Given the description of an element on the screen output the (x, y) to click on. 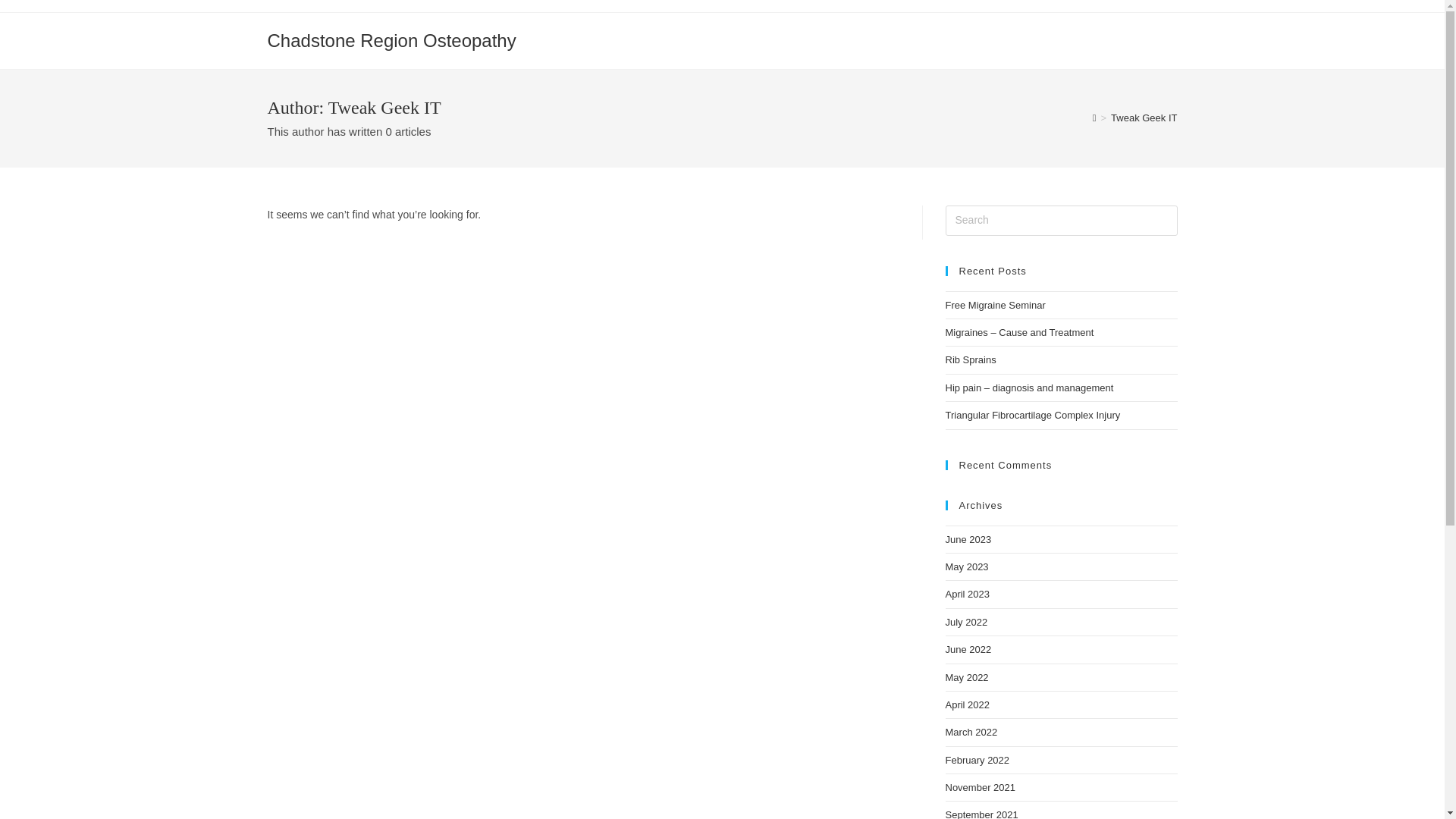
November 2021 Element type: text (979, 787)
July 2022 Element type: text (965, 621)
May 2022 Element type: text (966, 677)
February 2022 Element type: text (976, 759)
April 2023 Element type: text (966, 593)
April 2022 Element type: text (966, 704)
Chadstone Region Osteopathy Element type: text (390, 40)
Rib Sprains Element type: text (969, 359)
March 2022 Element type: text (970, 731)
Tweak Geek IT Element type: text (1143, 117)
May 2023 Element type: text (966, 566)
June 2022 Element type: text (967, 649)
Triangular Fibrocartilage Complex Injury Element type: text (1032, 414)
Free Migraine Seminar Element type: text (994, 304)
June 2023 Element type: text (967, 539)
